Given the description of an element on the screen output the (x, y) to click on. 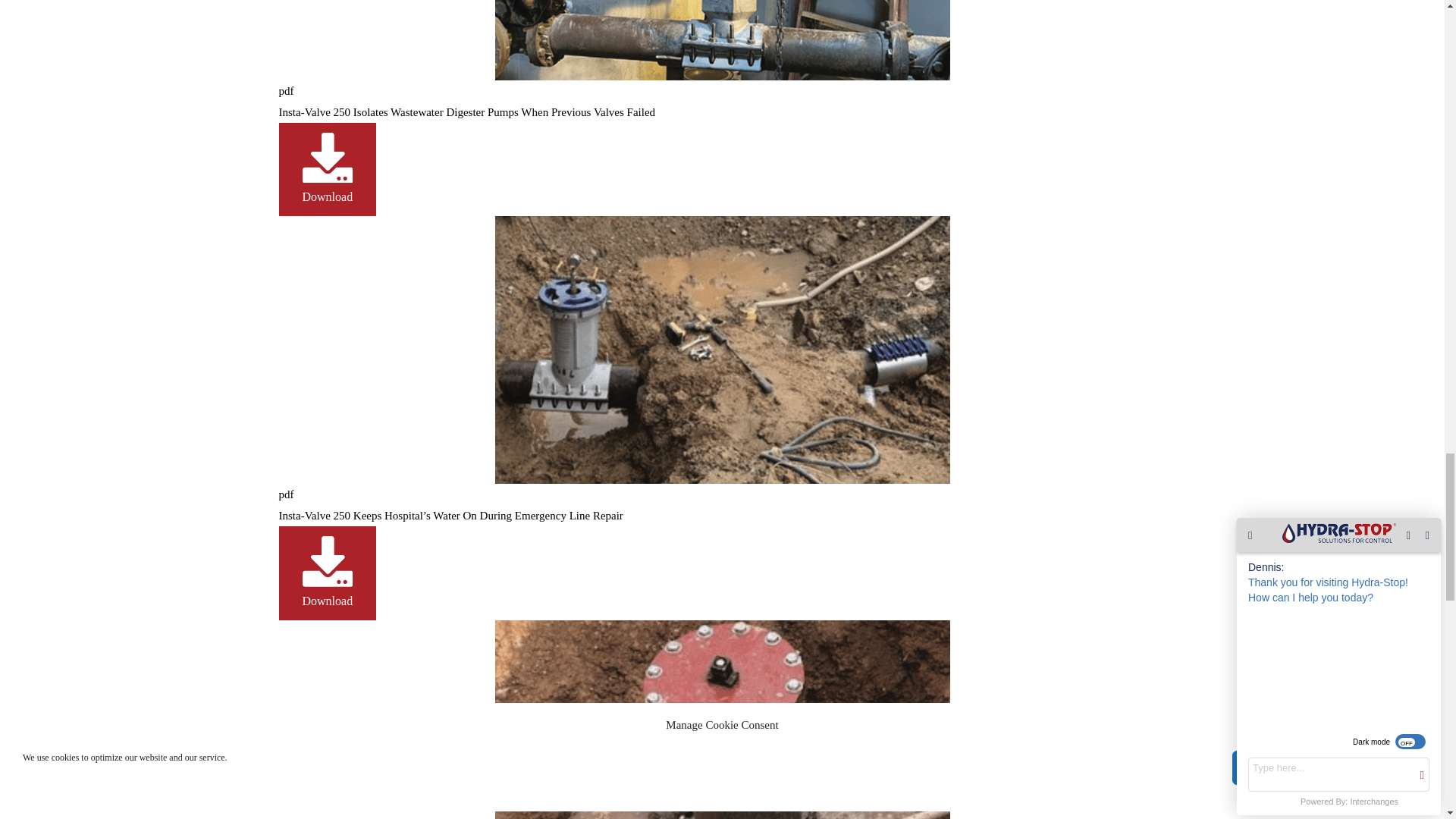
SuccessStory-HollySprings (722, 719)
